Given the description of an element on the screen output the (x, y) to click on. 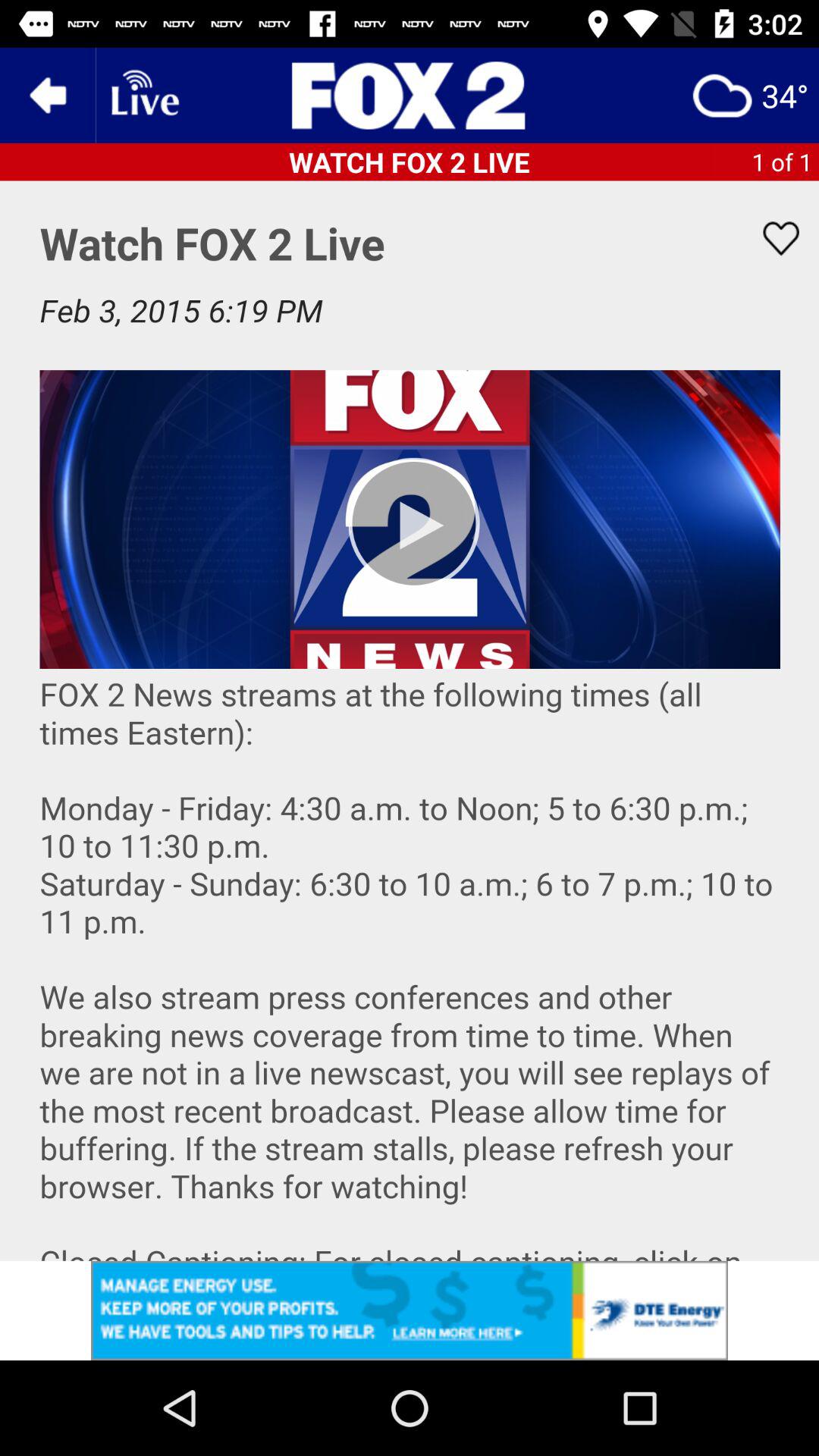
button to give stream a love/like (771, 238)
